Given the description of an element on the screen output the (x, y) to click on. 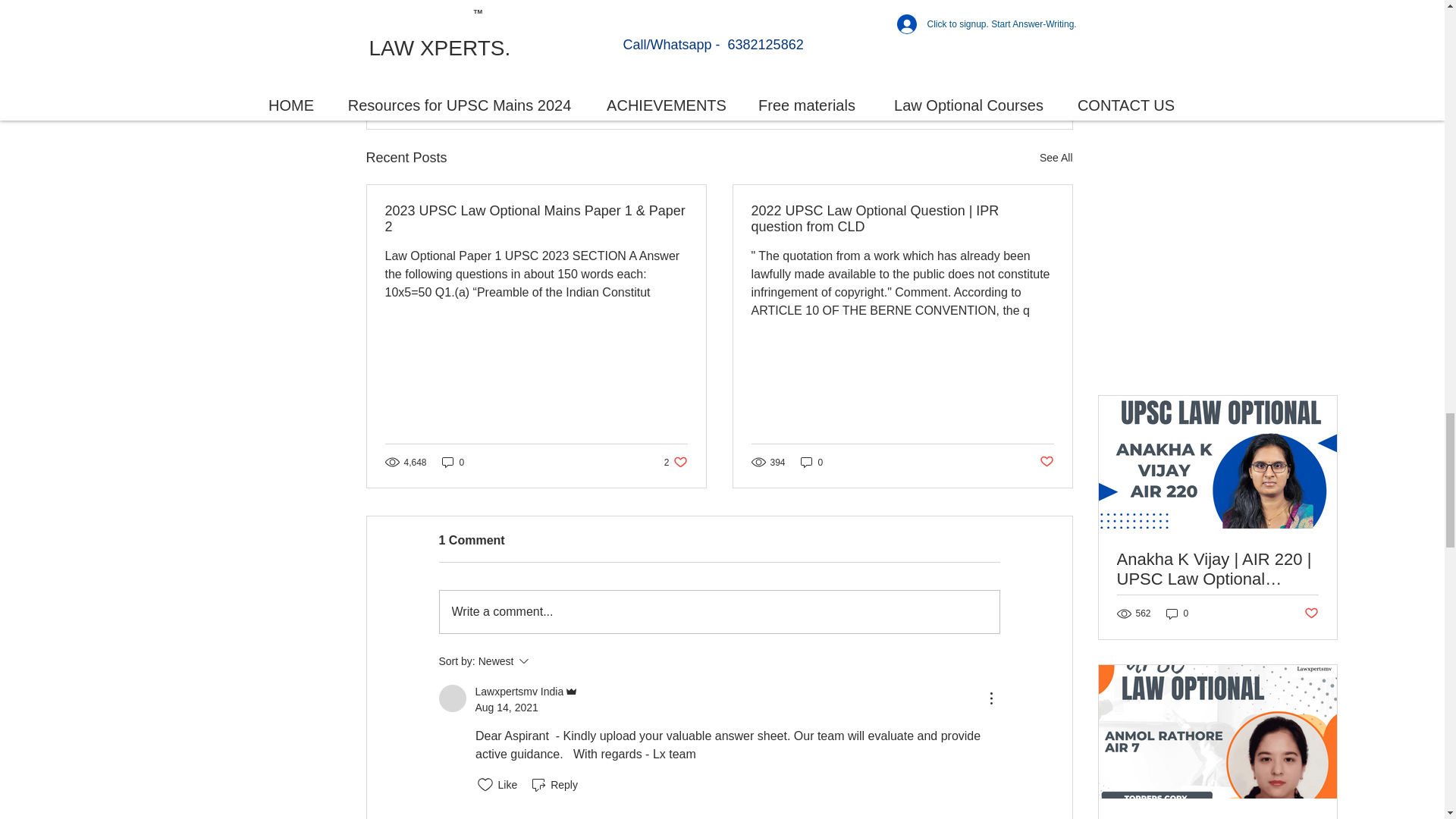
See All (987, 74)
0 (675, 462)
UPSC Law optional PY Questions (1056, 157)
UPSC Law Optional free writing prac (453, 462)
Lawxpertsmv India (730, 29)
